Given the description of an element on the screen output the (x, y) to click on. 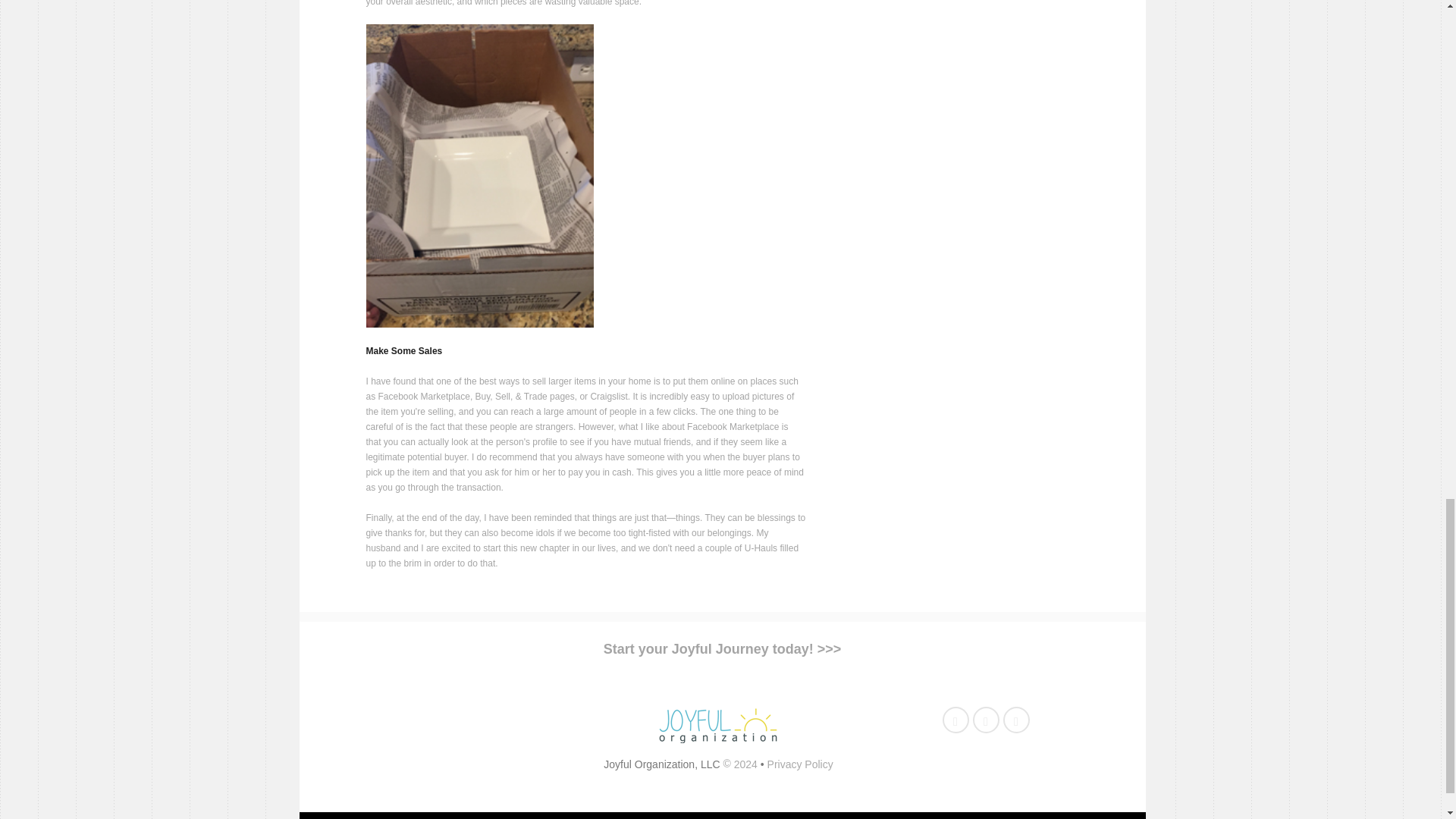
Privacy Policy (799, 764)
